Given the description of an element on the screen output the (x, y) to click on. 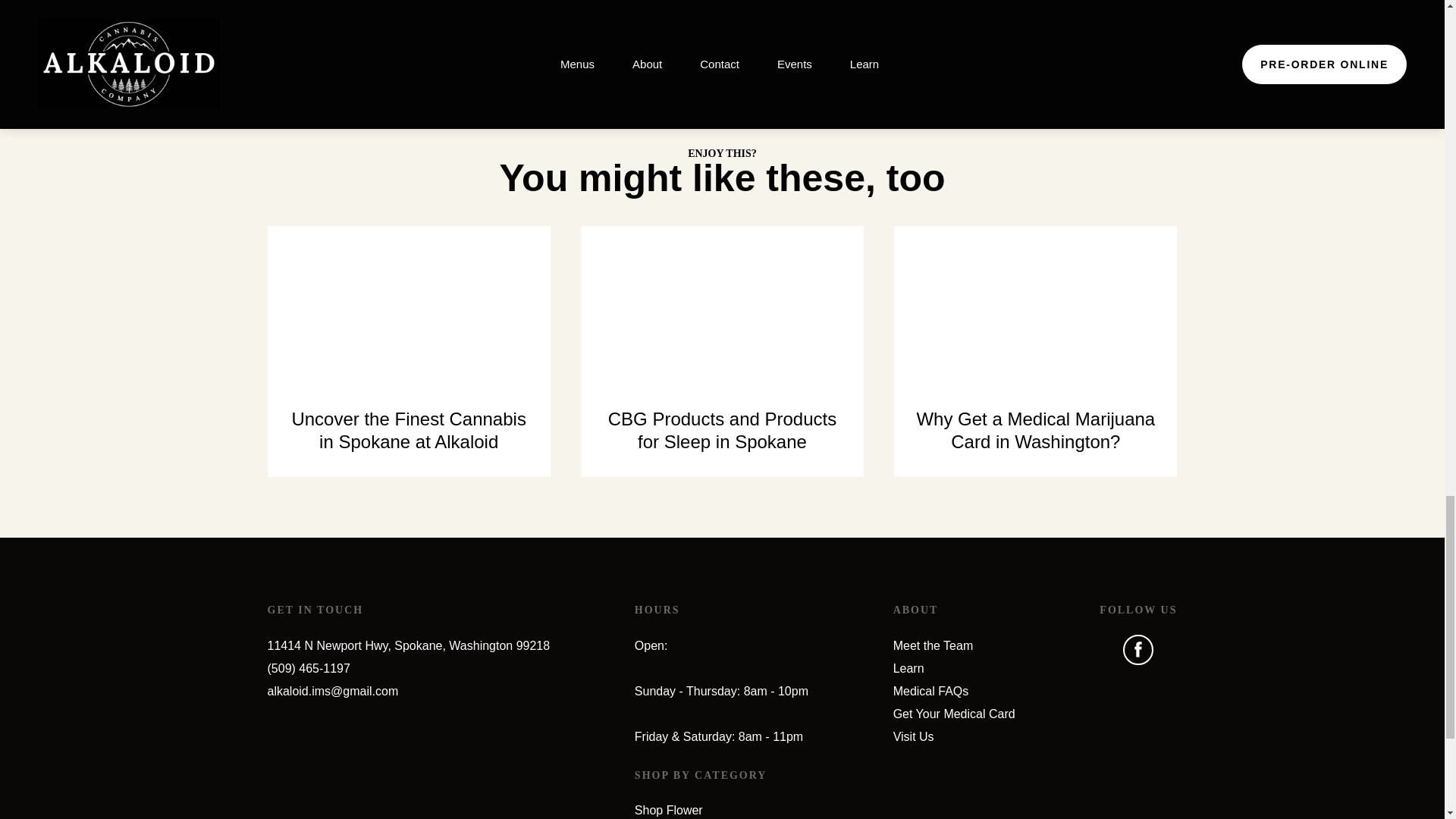
Medical FAQs (931, 690)
Uncover the Finest Cannabis in Spokane at Alkaloid (408, 351)
Learn (908, 667)
Shop Flower (668, 809)
11414 N Newport Hwy, Spokane, Washington 99218 (408, 645)
Meet the Team (933, 645)
Why Get a Medical Marijuana Card in Washington? (1034, 351)
CBG Products and Products for Sleep in Spokane (721, 351)
